Given the description of an element on the screen output the (x, y) to click on. 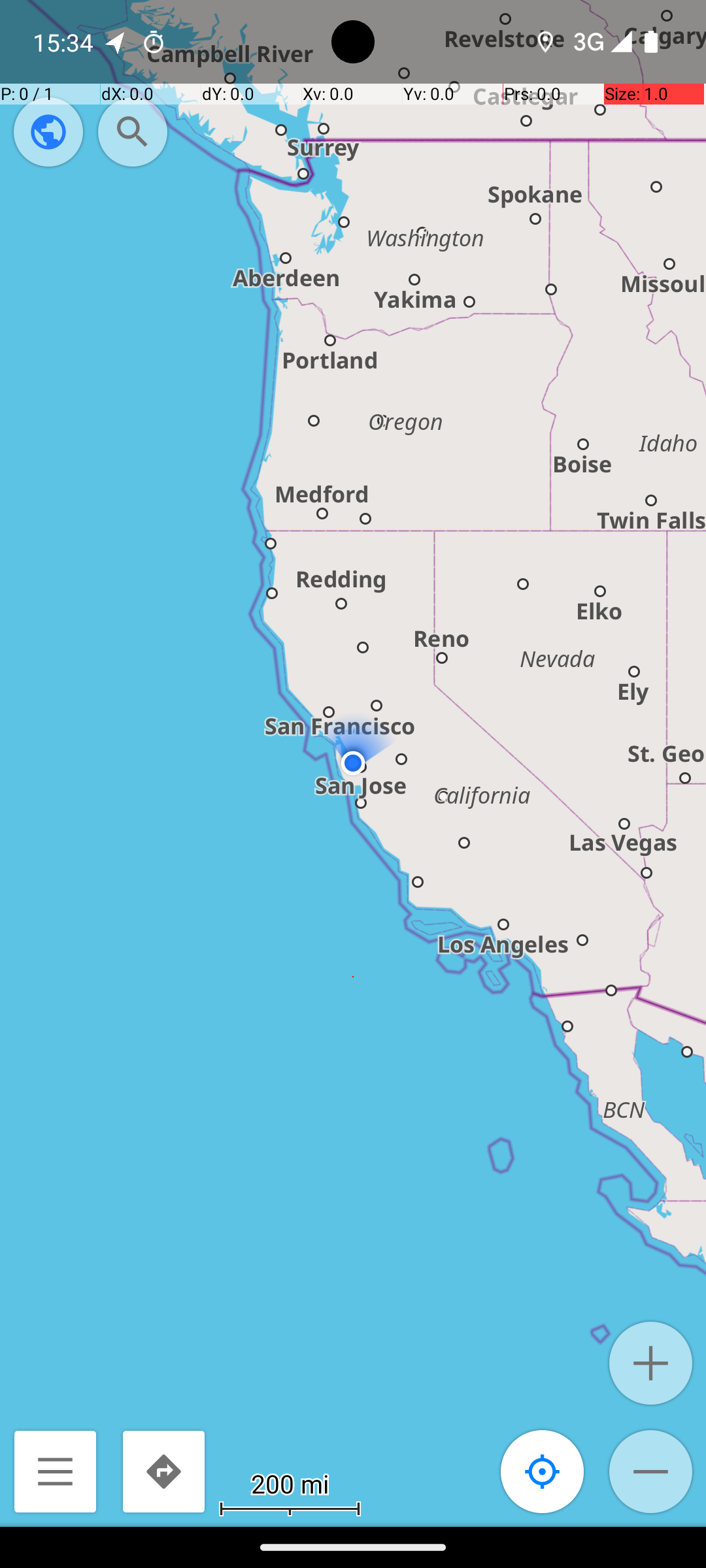
Map linked to location Element type: android.widget.ImageButton (542, 1471)
